Given the description of an element on the screen output the (x, y) to click on. 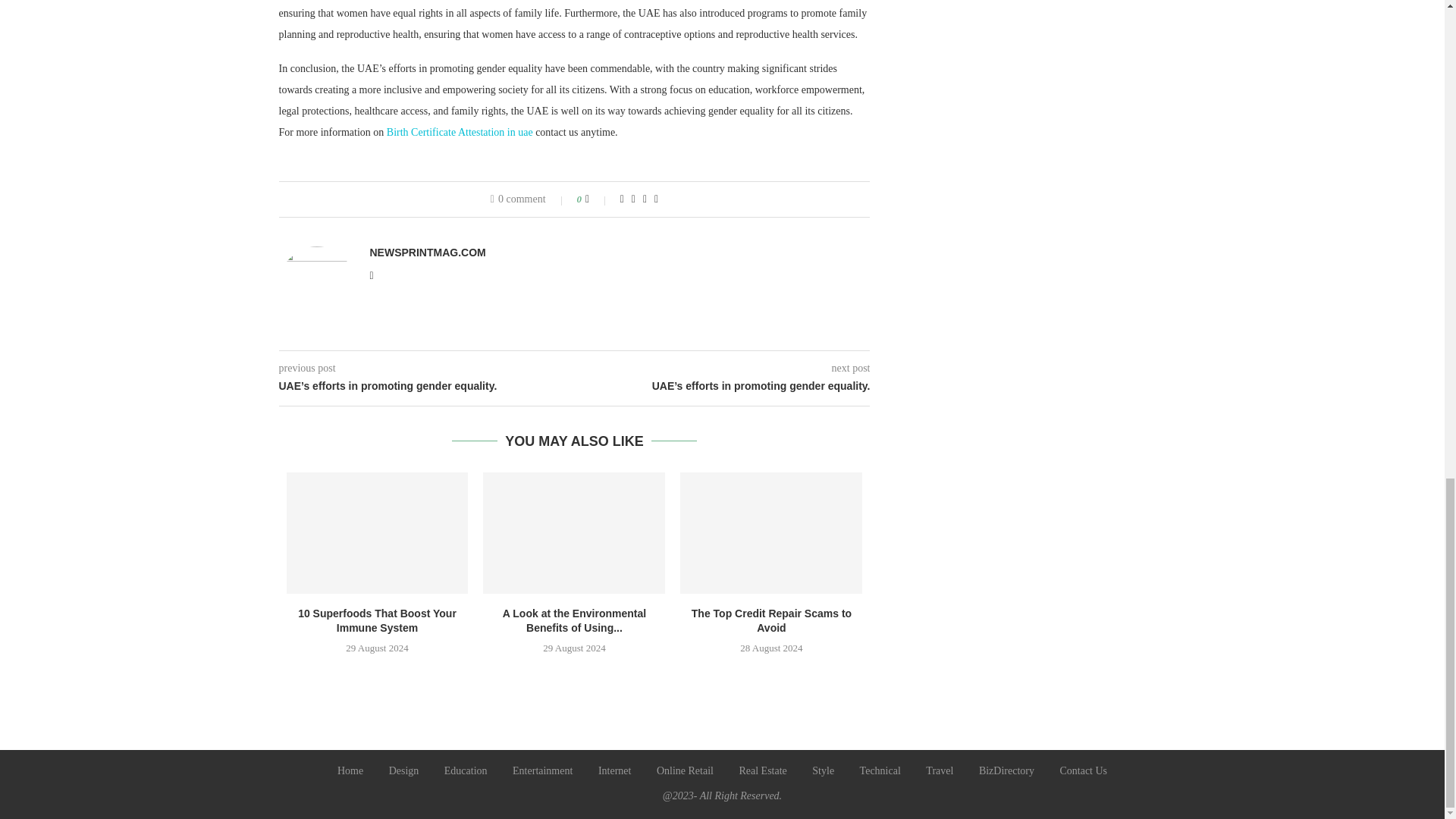
The Top Credit Repair Scams to Avoid (770, 532)
10 Superfoods That Boost Your Immune System (377, 532)
Author newsprintmag.com (427, 252)
Birth Certificate Attestation in uae (459, 132)
A Look at the Environmental Benefits of Using Recycled Tiles (574, 532)
Like (597, 199)
